Given the description of an element on the screen output the (x, y) to click on. 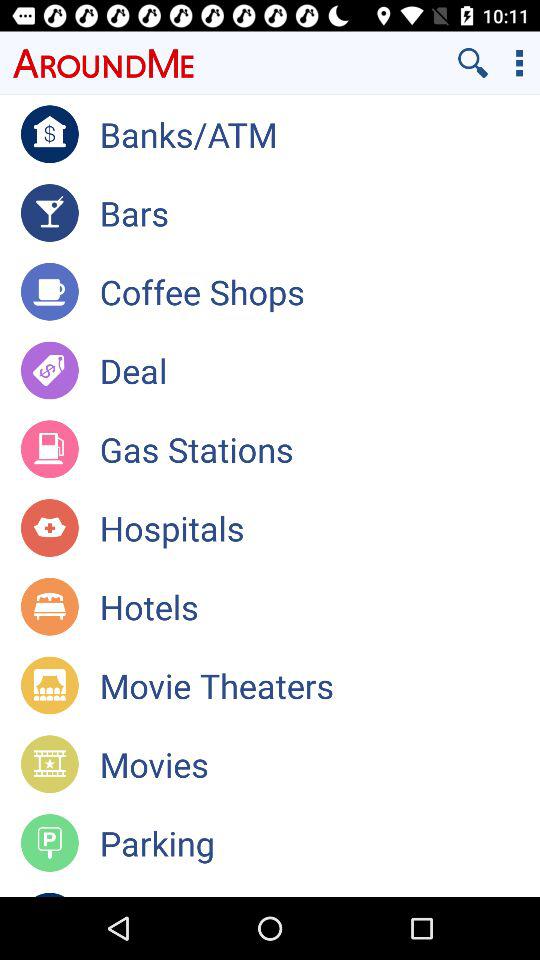
search (473, 62)
